Given the description of an element on the screen output the (x, y) to click on. 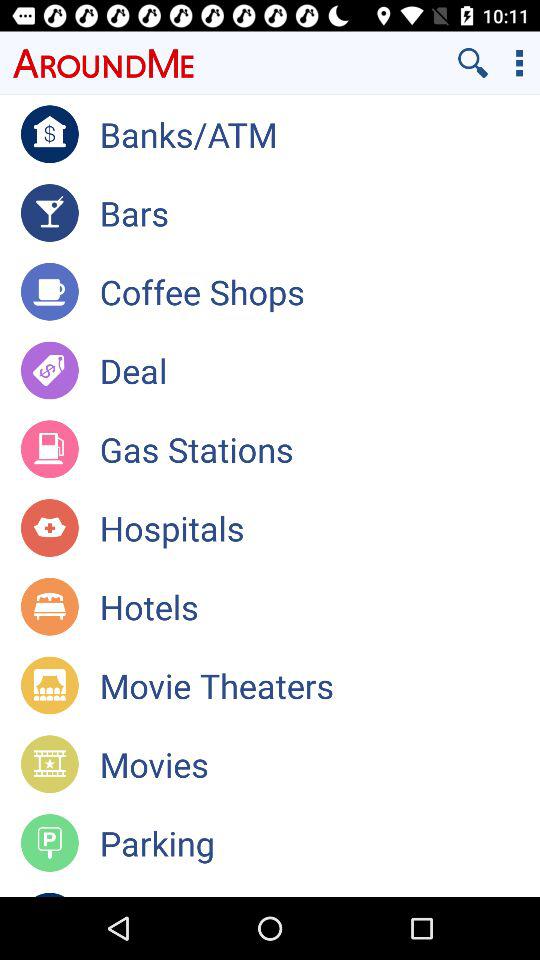
search (473, 62)
